Given the description of an element on the screen output the (x, y) to click on. 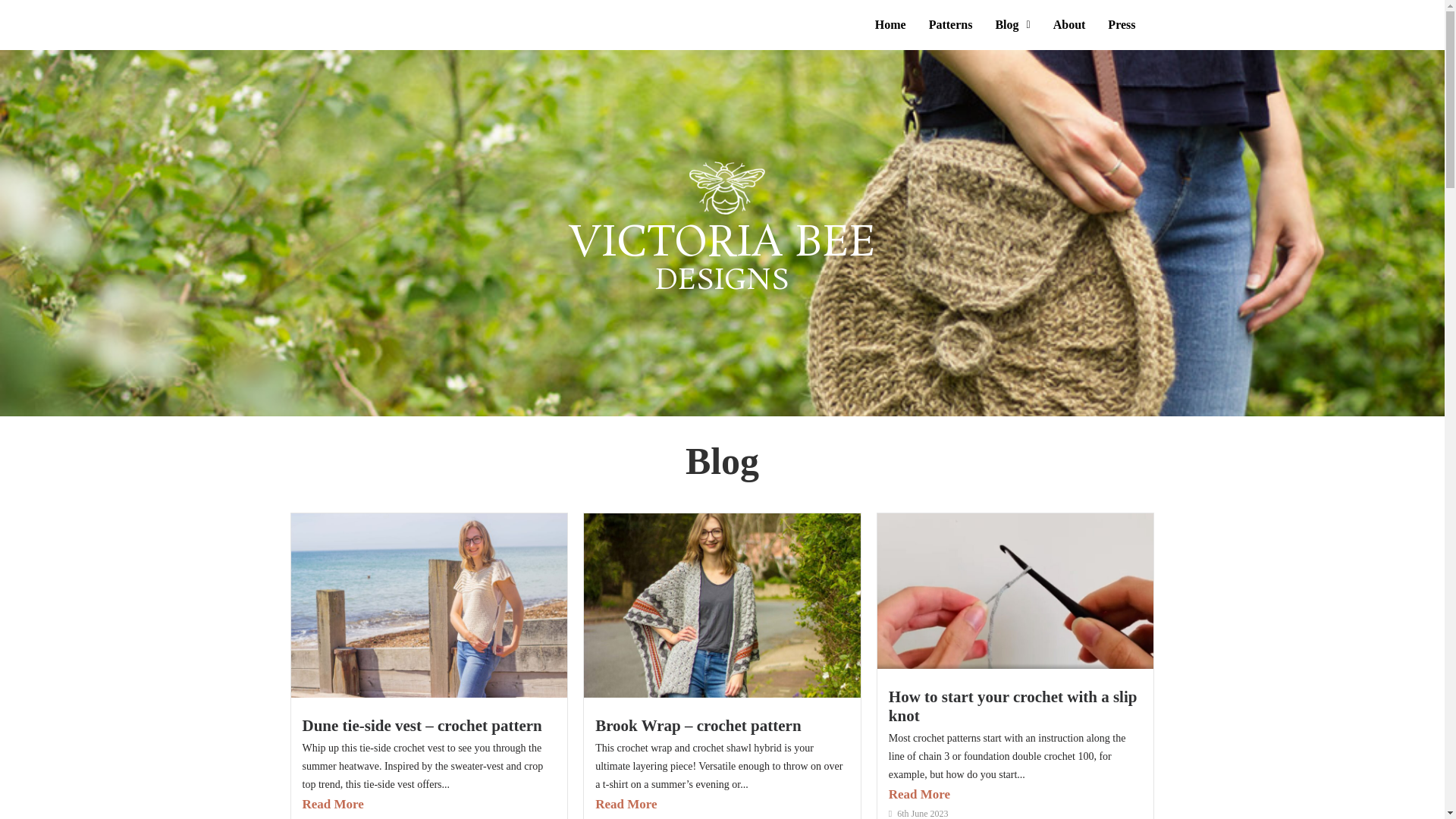
How to start your crochet with a slip knot (1012, 705)
Blog (1012, 24)
Patterns (950, 24)
Read More (721, 804)
Read More (428, 804)
Press (1121, 24)
About (1069, 24)
Read More (1015, 794)
Skip to content (11, 31)
How to start your crochet with a slip knot (1012, 705)
Home (890, 24)
